Given the description of an element on the screen output the (x, y) to click on. 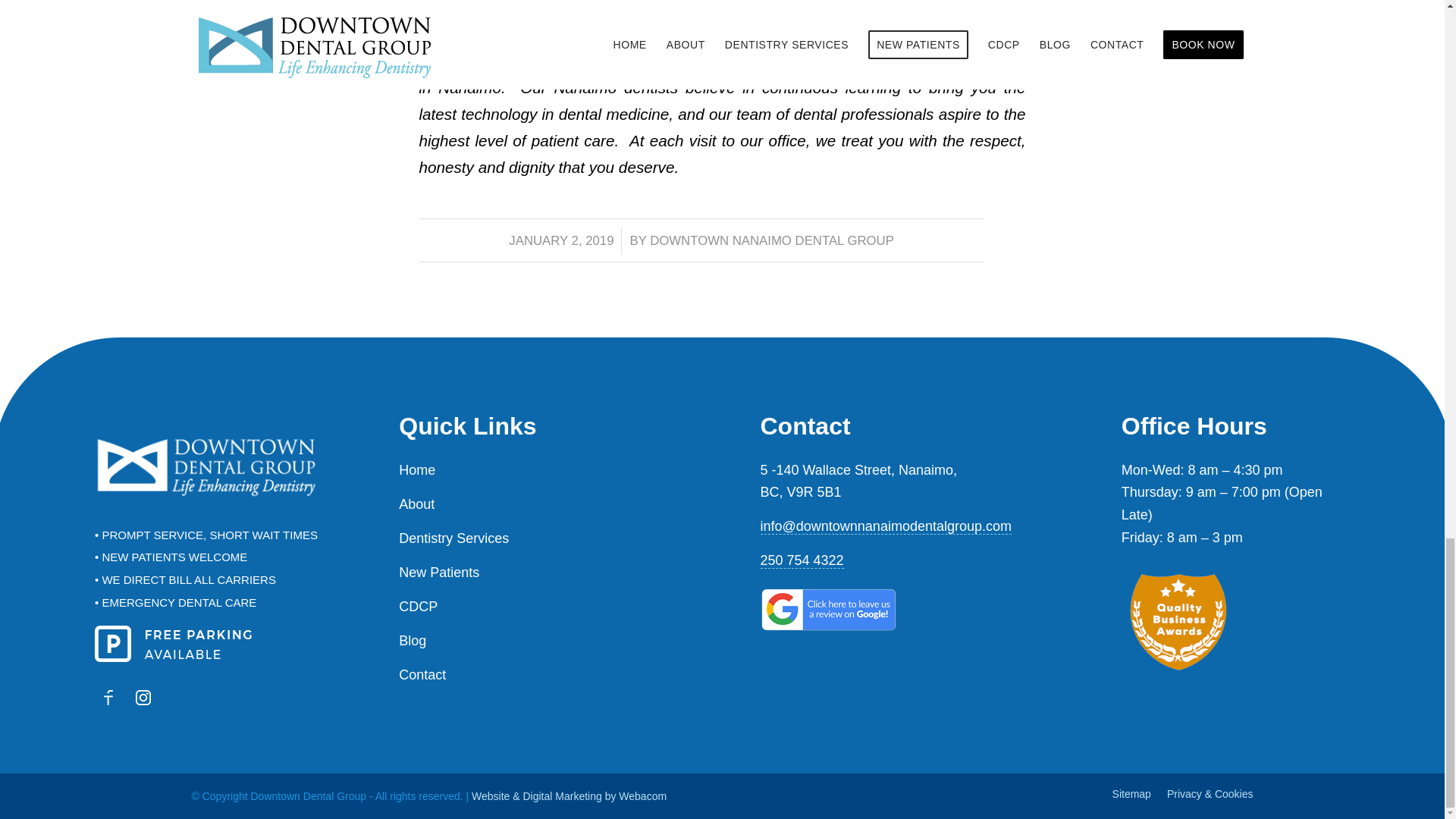
Free Parking at Downtown Nanaimo Dental Group (172, 643)
Downtown Nanaimo Dental Group is on Instagram! (143, 697)
Follow Downtown Dental Group on Facebook (108, 697)
quality business award (1177, 621)
Posts by Downtown Nanaimo Dental Group (771, 240)
google-reviews (828, 609)
Dental Hygiene (469, 2)
